Given the description of an element on the screen output the (x, y) to click on. 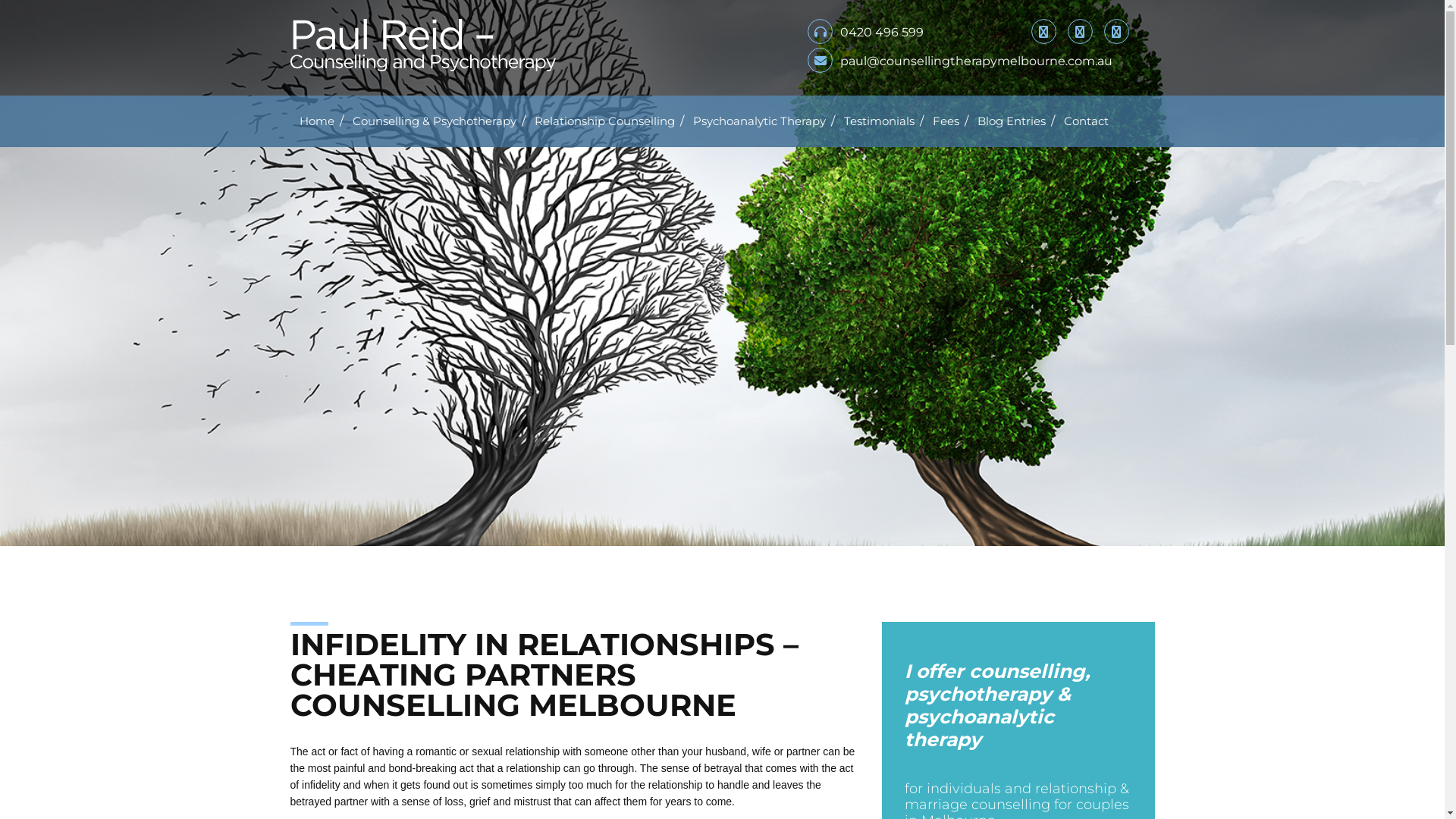
0420 496 599 Element type: text (865, 32)
Counselling & Psychotherapy Element type: text (433, 121)
Testimonials Element type: text (878, 121)
The sense of betrayal that comes with the act of infidelity Element type: text (571, 776)
Contact Element type: text (1085, 121)
Blog Entries Element type: text (1010, 121)
Psychoanalytic Therapy Element type: text (759, 121)
Fees Element type: text (945, 121)
Relationship Counselling Element type: text (603, 121)
paul@counsellingtherapymelbourne.com.au Element type: text (959, 61)
Home Element type: text (315, 121)
